Given the description of an element on the screen output the (x, y) to click on. 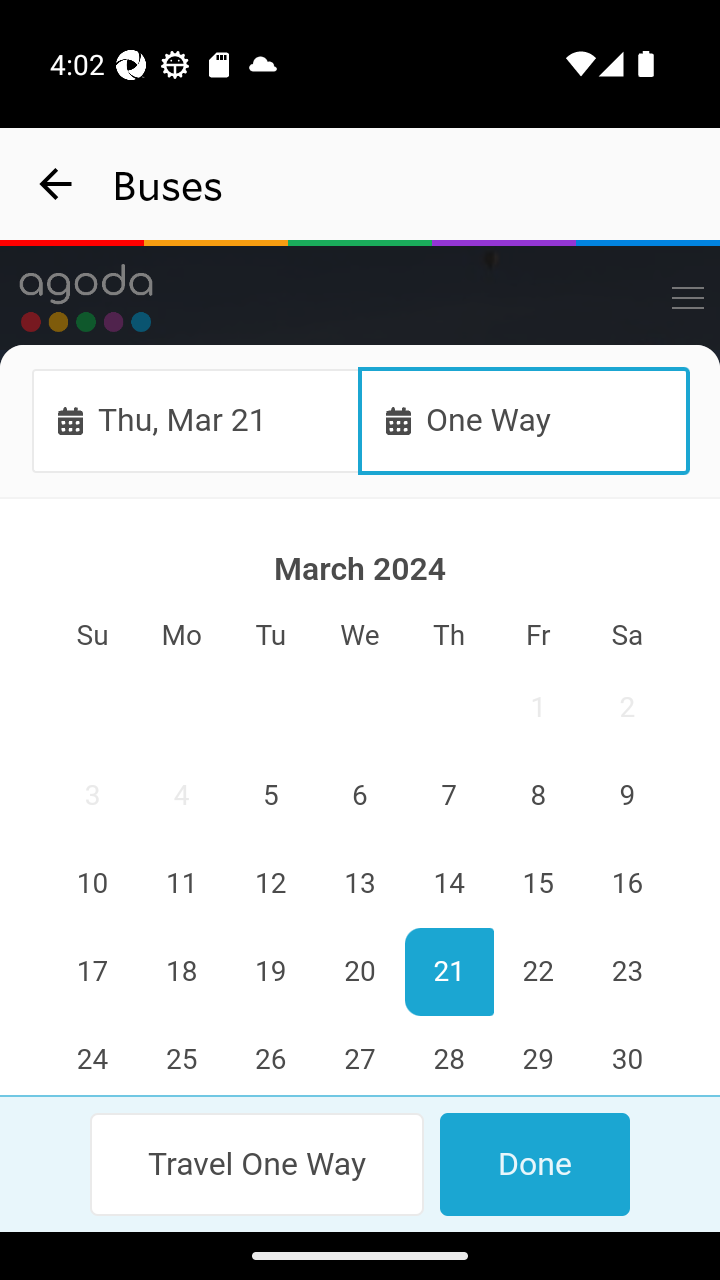
navigation_button (56, 184)
Thu, Mar 21 (195, 420)
One Way (524, 420)
1 (537, 708)
2 (626, 708)
3 (93, 797)
4 (182, 797)
5 (271, 797)
6 (359, 797)
7 (448, 797)
8 (537, 797)
9 (626, 797)
10 (93, 884)
11 (182, 884)
12 (271, 884)
13 (359, 884)
14 (448, 884)
15 (537, 884)
16 (626, 884)
17 (93, 972)
18 (182, 972)
19 (271, 972)
20 (359, 972)
21 (448, 972)
22 (537, 972)
23 (626, 972)
24 (93, 1055)
25 (182, 1055)
26 (271, 1055)
27 (359, 1055)
28 (448, 1055)
29 (537, 1055)
30 (626, 1055)
Travel One Way (258, 1164)
Done (534, 1164)
